Given the description of an element on the screen output the (x, y) to click on. 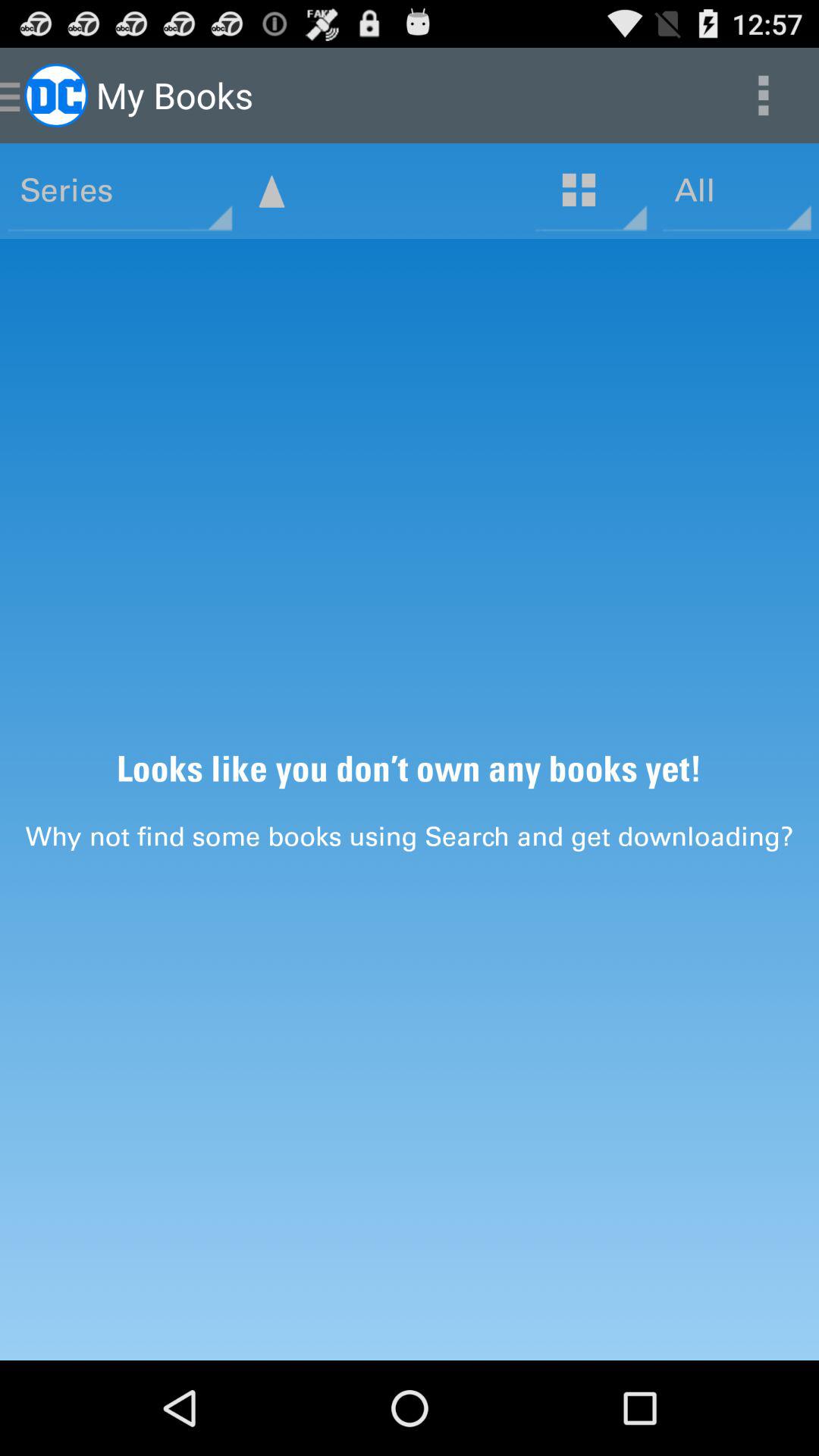
launch the item below the my books (271, 190)
